Given the description of an element on the screen output the (x, y) to click on. 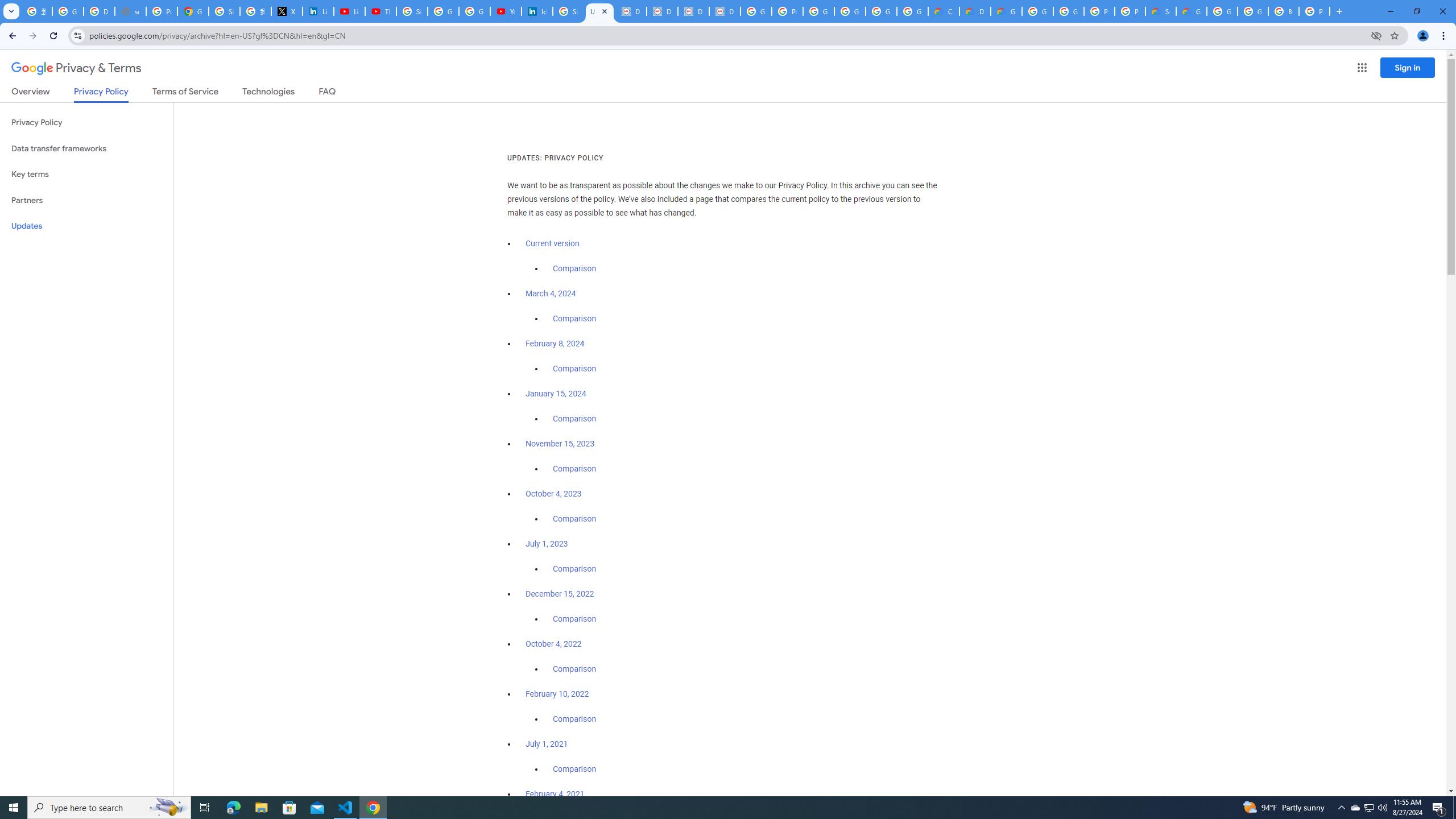
October 4, 2022 (553, 643)
February 4, 2021 (555, 793)
Data transfer frameworks (86, 148)
December 15, 2022 (559, 593)
Google Cloud Platform (1037, 11)
July 1, 2021 (546, 743)
